Given the description of an element on the screen output the (x, y) to click on. 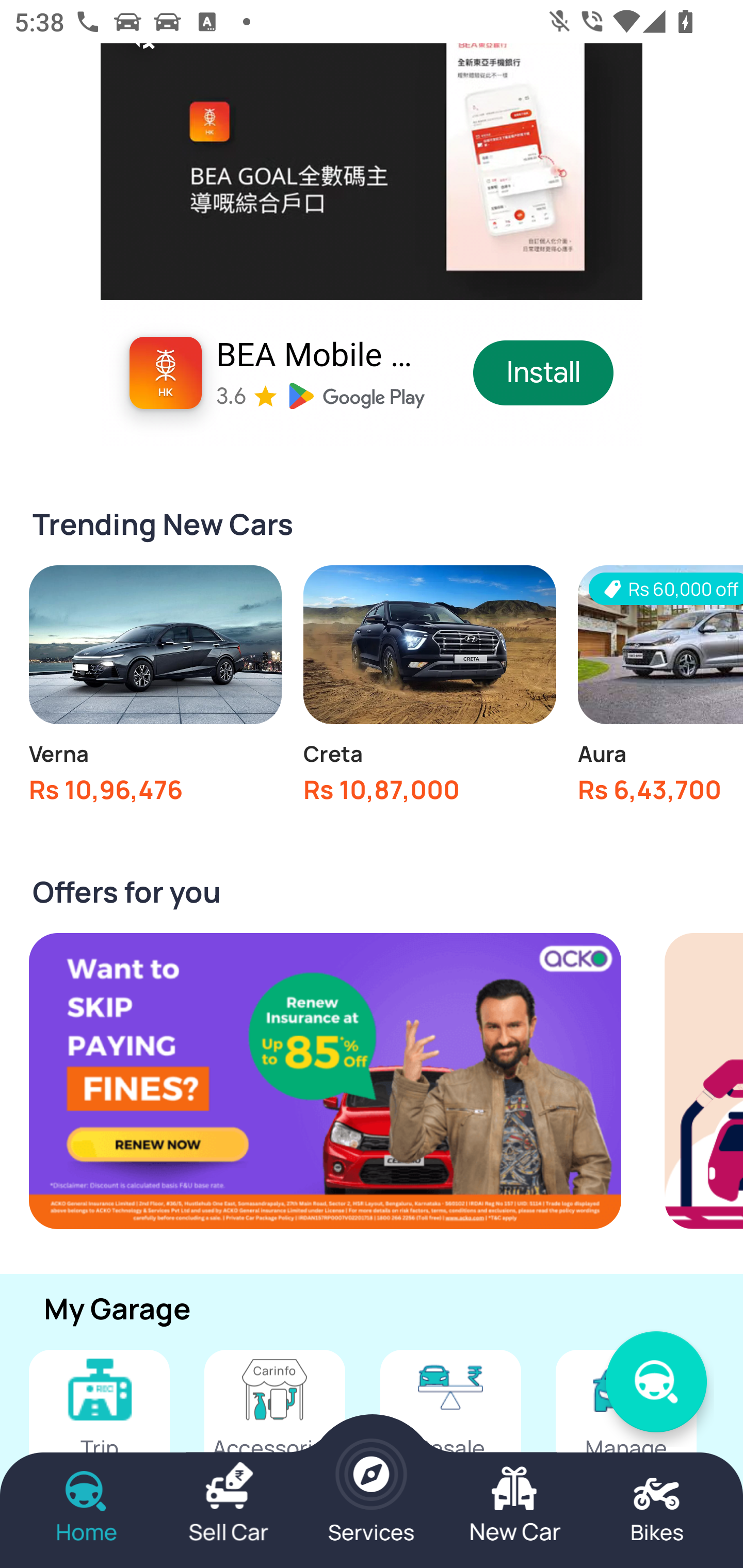
Install (543, 372)
Verna Rs 10,96,476 onwards (154, 689)
Creta Rs 10,87,000 onwards (429, 689)
Rs 60,000 off Aura Rs 6,43,700 onwards (660, 689)
Trip Recorder (98, 1426)
Accessories (274, 1426)
Resale
Value (450, 1426)
